Given the description of an element on the screen output the (x, y) to click on. 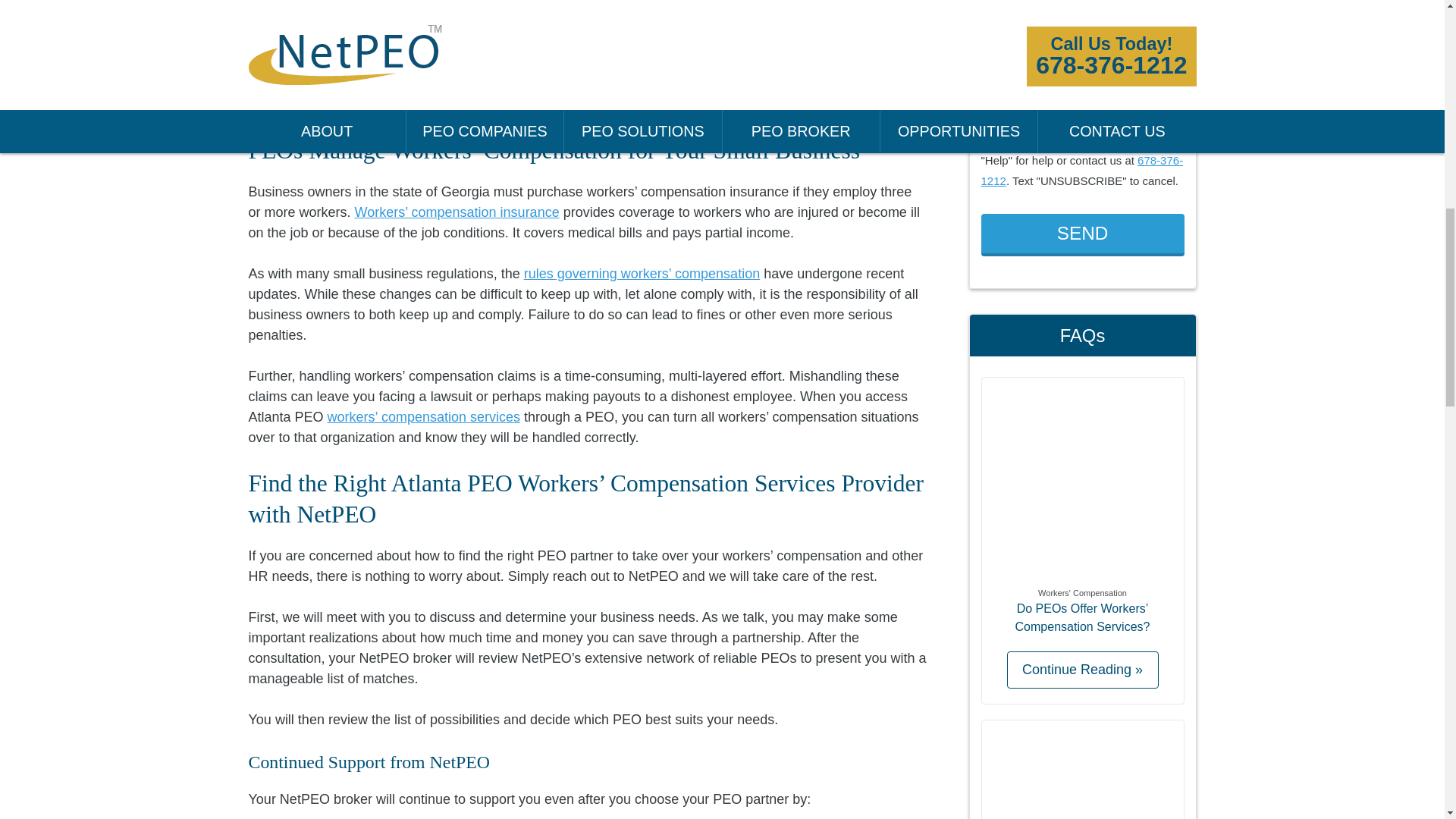
Send (1083, 234)
